Given the description of an element on the screen output the (x, y) to click on. 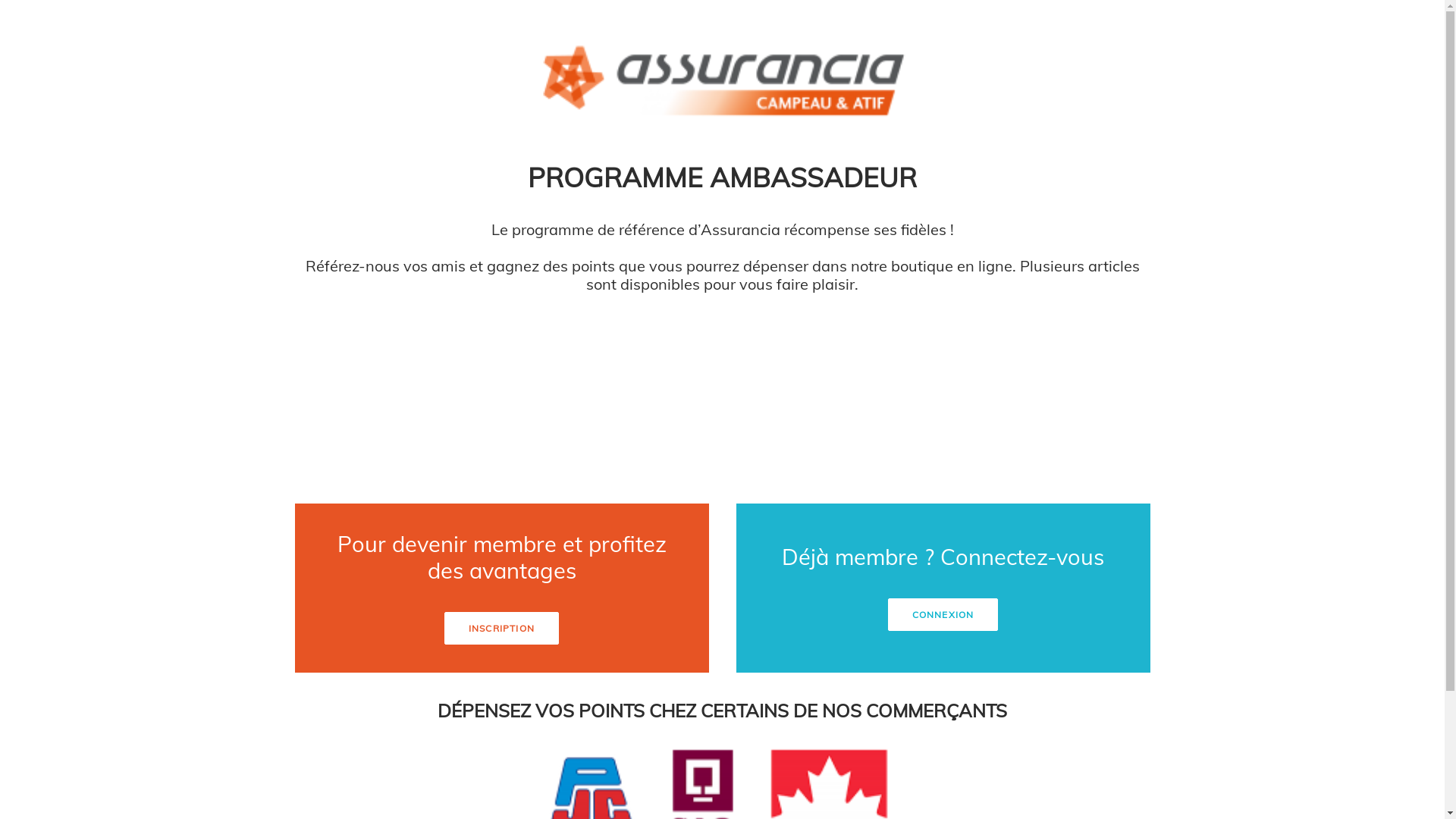
CONNEXION Element type: text (943, 614)
INSCRIPTION Element type: text (501, 627)
